Given the description of an element on the screen output the (x, y) to click on. 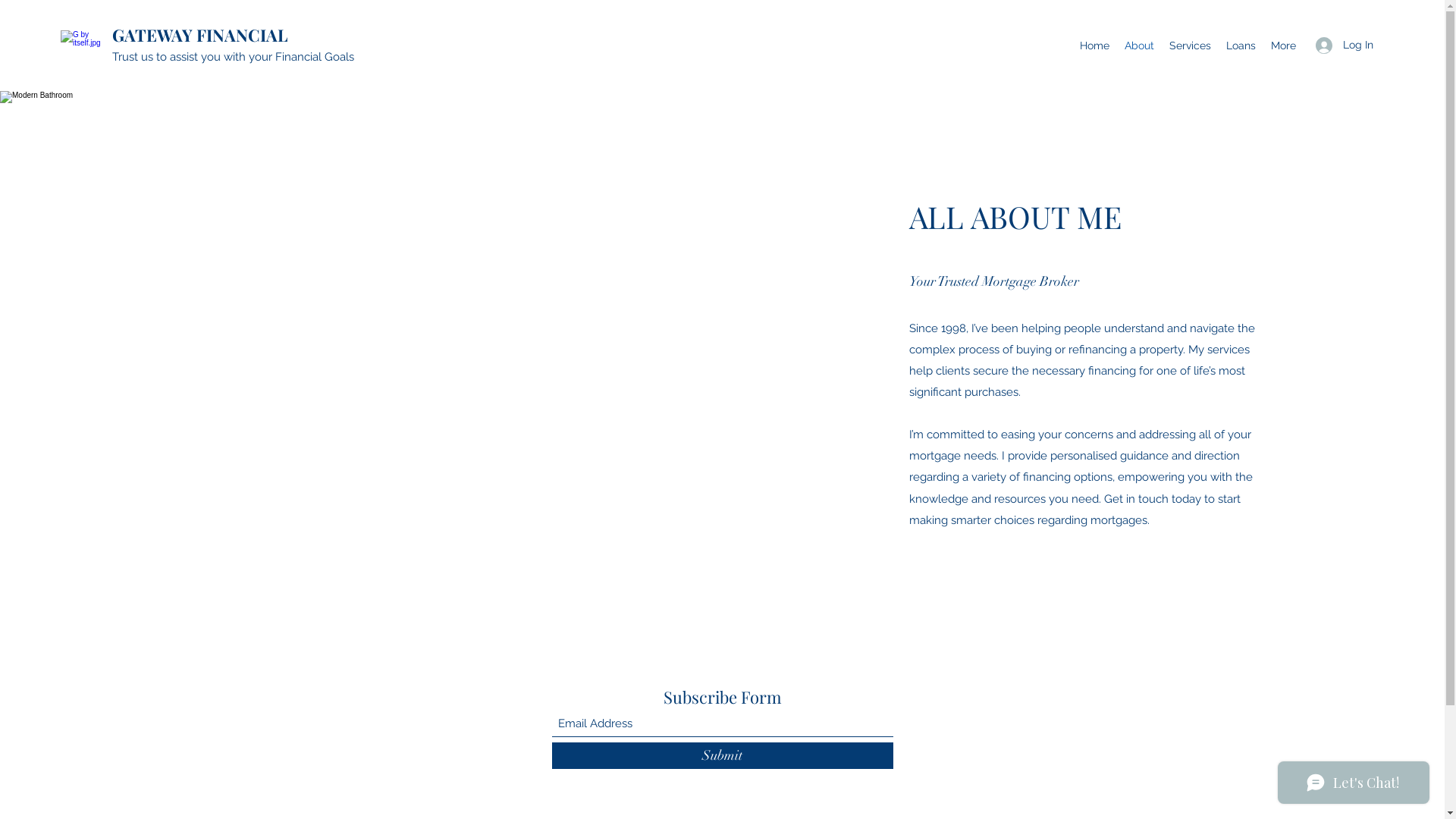
Submit Element type: text (722, 755)
About Element type: text (1139, 45)
Loans Element type: text (1240, 45)
Log In Element type: text (1344, 45)
GATEWAY FINANCIAL Element type: text (199, 34)
Services Element type: text (1189, 45)
Home Element type: text (1094, 45)
